Given the description of an element on the screen output the (x, y) to click on. 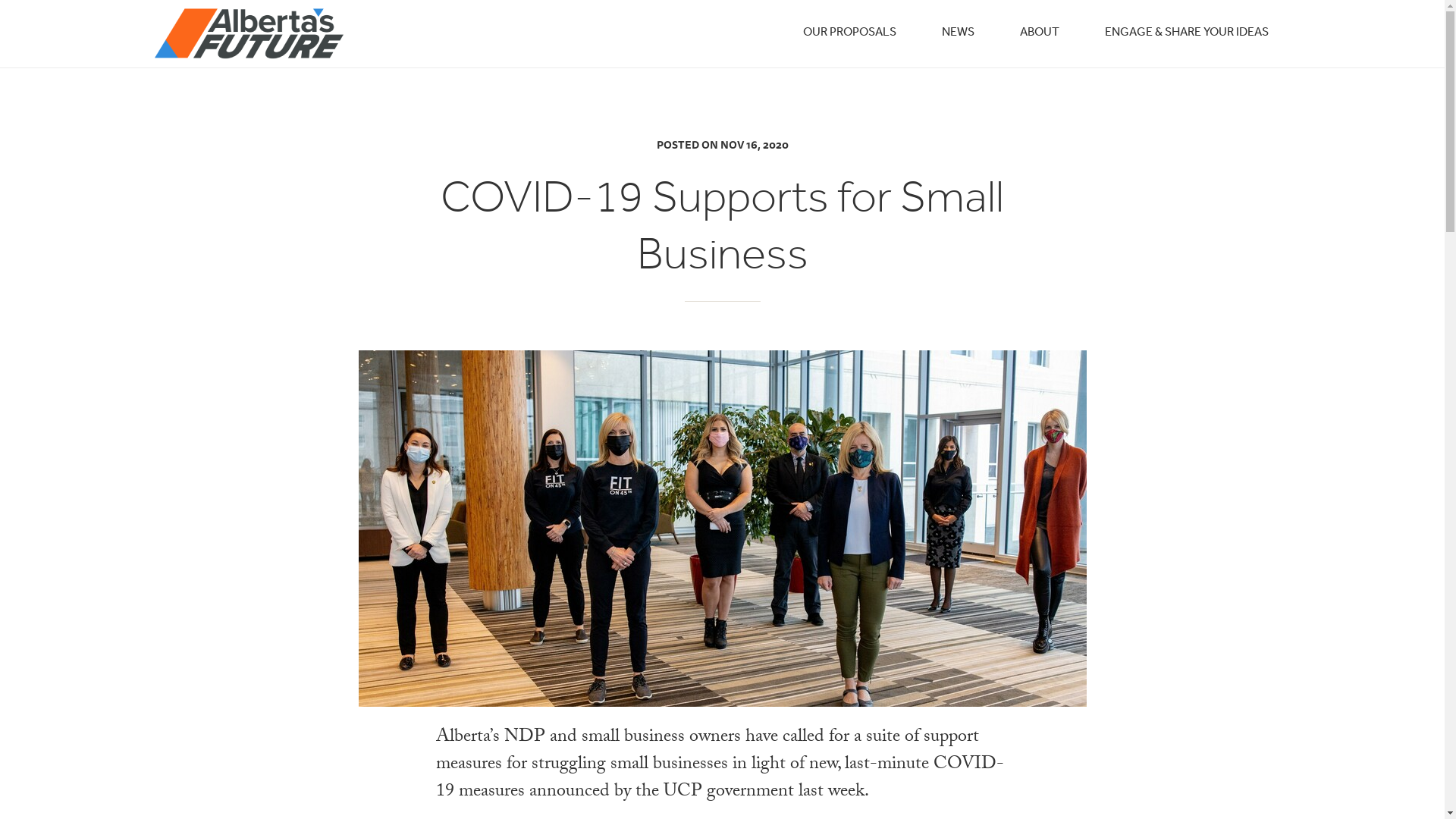
OUR PROPOSALS Element type: text (848, 31)
ENGAGE & SHARE YOUR IDEAS Element type: text (1185, 31)
NEWS Element type: text (957, 31)
ABOUT Element type: text (1038, 31)
